Given the description of an element on the screen output the (x, y) to click on. 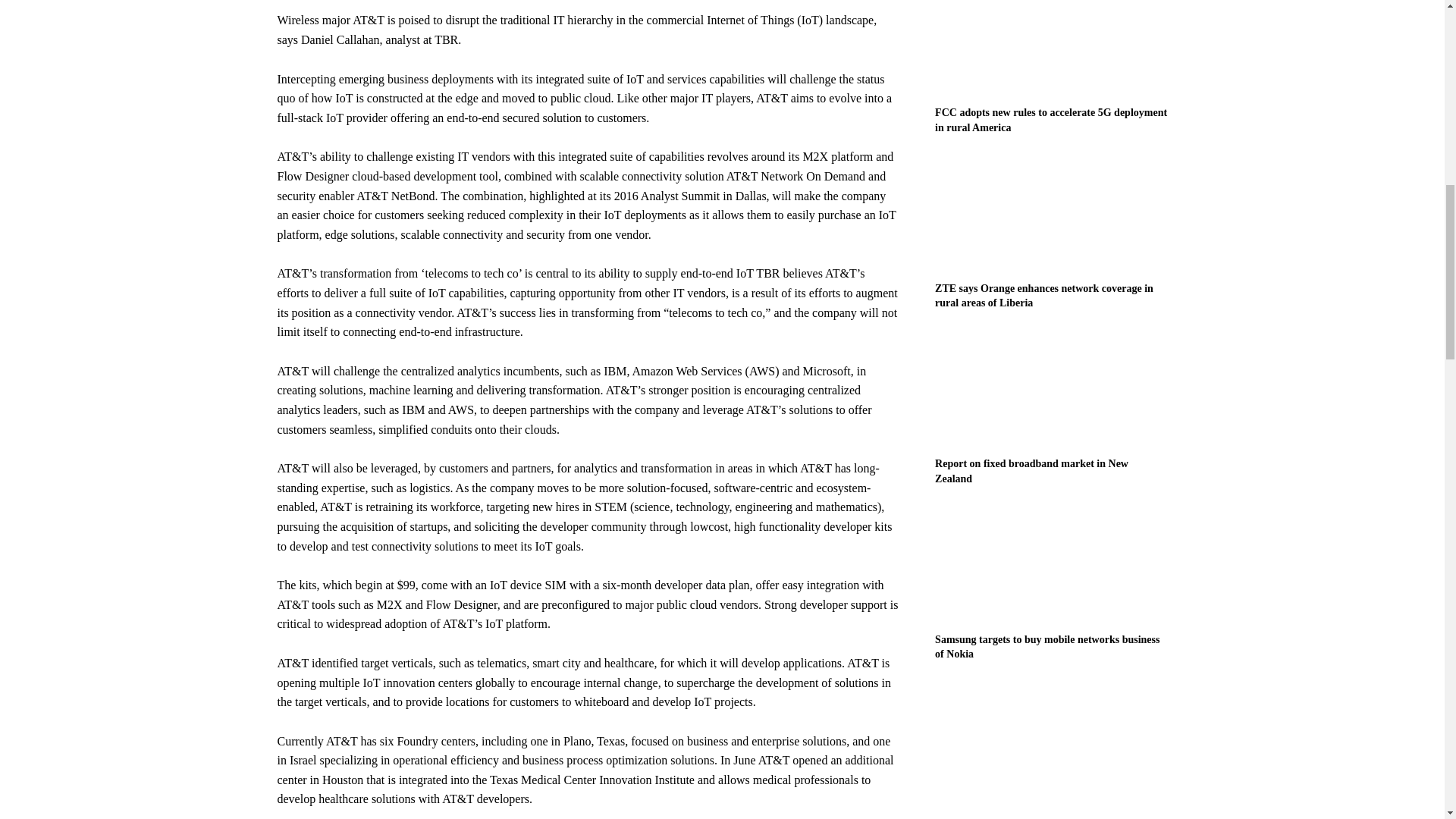
Report on fixed broadband market in New Zealand (1031, 470)
Report on fixed broadband market in New Zealand (1050, 388)
Samsung targets to buy mobile networks business of Nokia (1046, 646)
Samsung targets to buy mobile networks business of Nokia (1050, 563)
